Given the description of an element on the screen output the (x, y) to click on. 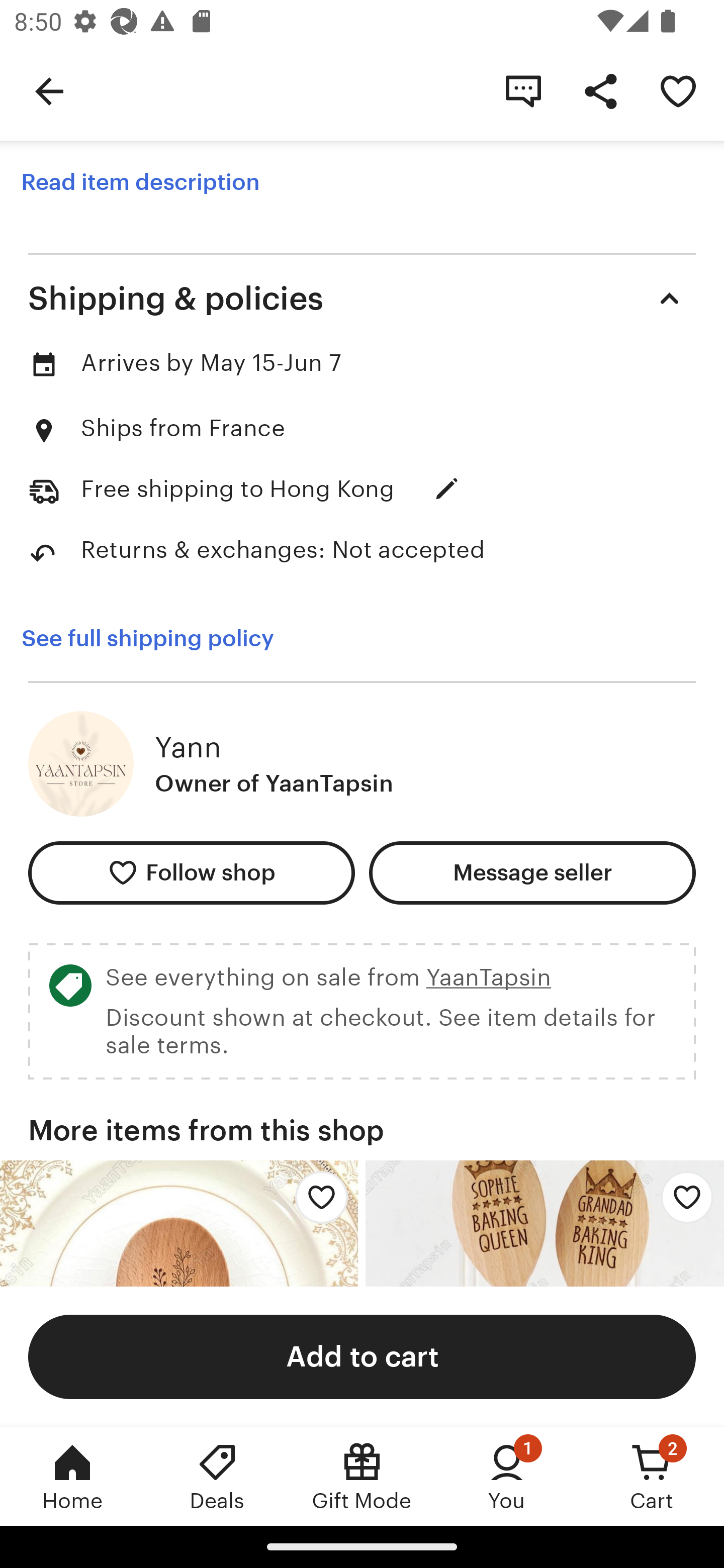
Navigate up (49, 90)
Contact shop (523, 90)
Share (600, 90)
Read item description (140, 181)
Shipping & policies (362, 298)
Update (446, 488)
See full shipping policy (147, 637)
Follow shop Follow YaanTapsin (191, 873)
Message seller (532, 873)
Add to cart (361, 1355)
Deals (216, 1475)
Gift Mode (361, 1475)
You, 1 new notification You (506, 1475)
Cart, 2 new notifications Cart (651, 1475)
